Given the description of an element on the screen output the (x, y) to click on. 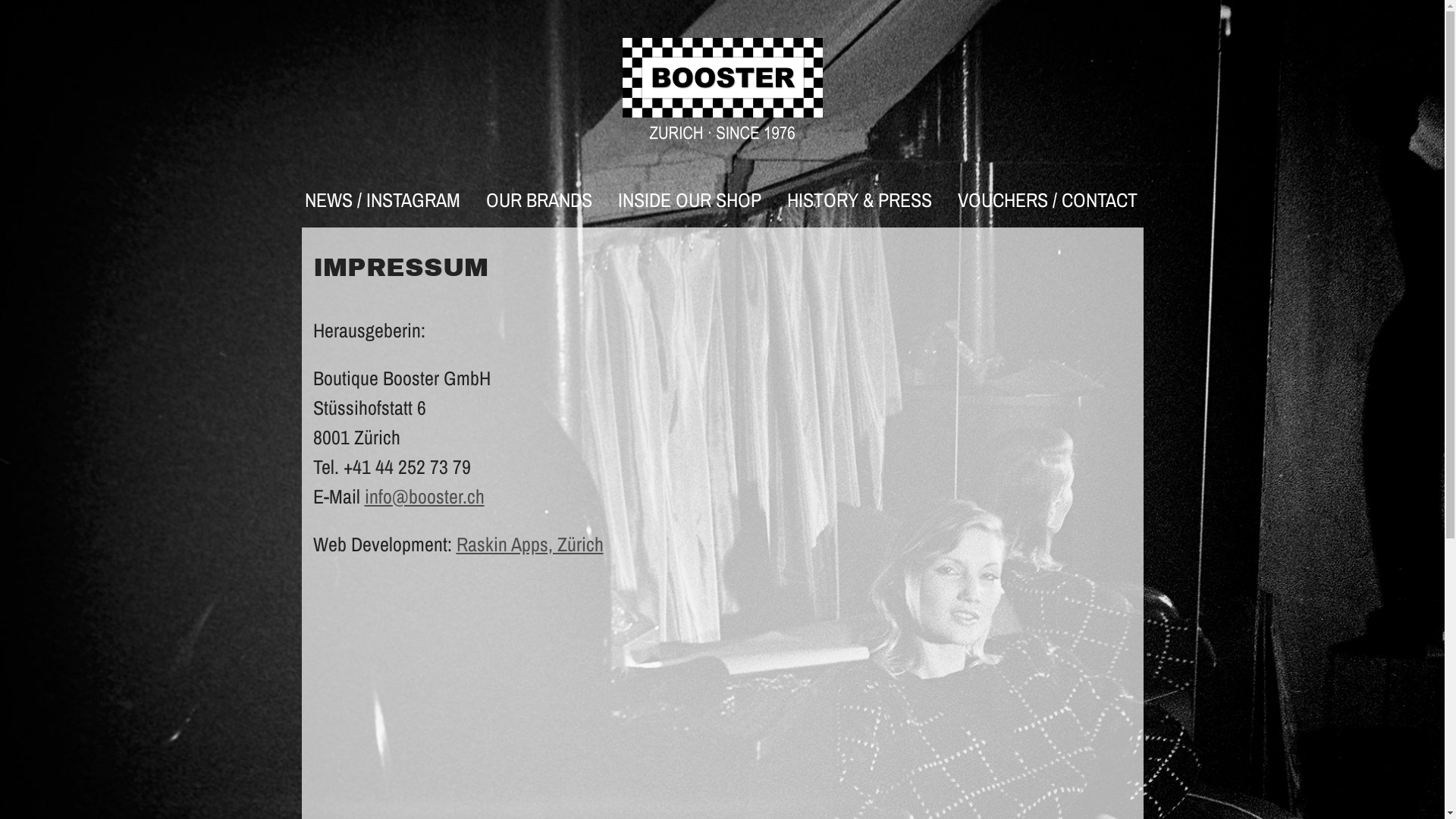
OUR BRANDS Element type: text (539, 199)
NEWS / INSTAGRAM Element type: text (382, 199)
VOUCHERS / CONTACT Element type: text (1047, 199)
info@booster.ch Element type: text (423, 496)
INSIDE OUR SHOP Element type: text (689, 199)
HISTORY & PRESS Element type: text (859, 199)
